Given the description of an element on the screen output the (x, y) to click on. 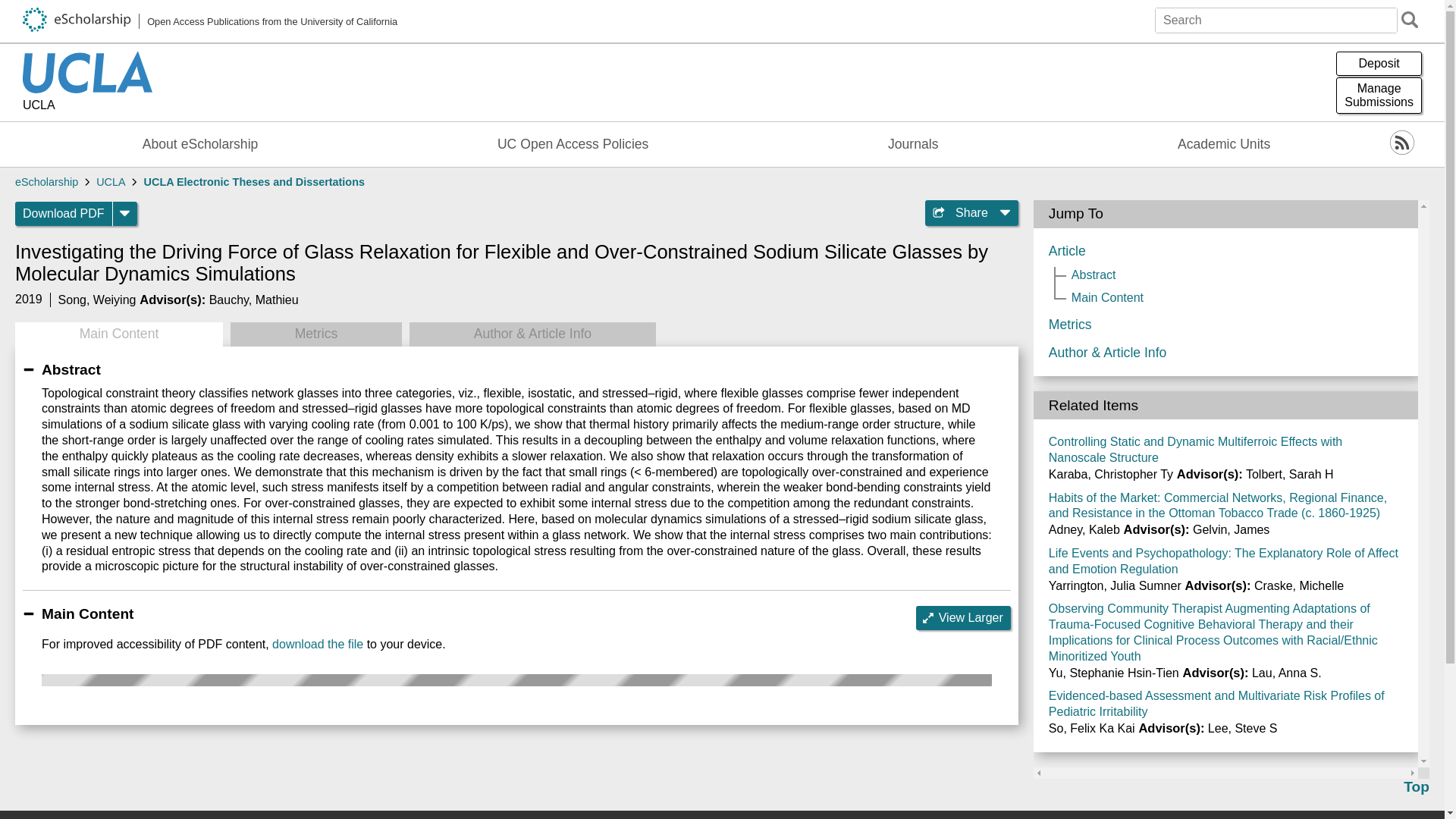
View Larger (962, 617)
Academic Units (1379, 94)
UCLA Electronic Theses and Dissertations (1224, 143)
Open Access Publications from the University of California (254, 182)
About eScholarship (210, 21)
Main Content (200, 143)
Deposit (118, 334)
UCLA (1379, 63)
Bauchy, Mathieu (87, 105)
Song, Weiying (253, 299)
download the file (97, 299)
Download PDF (317, 644)
Journals (63, 213)
Metrics (913, 143)
